Given the description of an element on the screen output the (x, y) to click on. 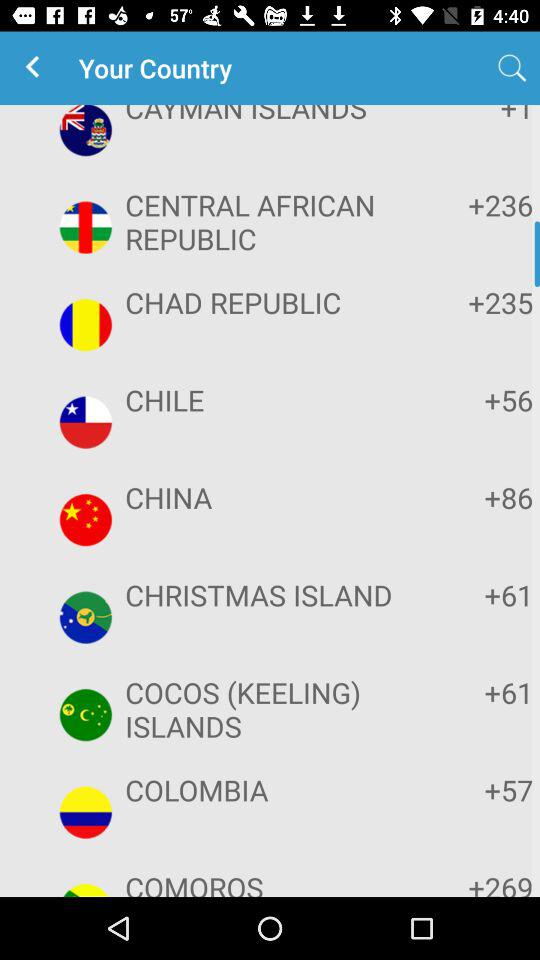
tap the app to the right of cayman islands (512, 67)
